Given the description of an element on the screen output the (x, y) to click on. 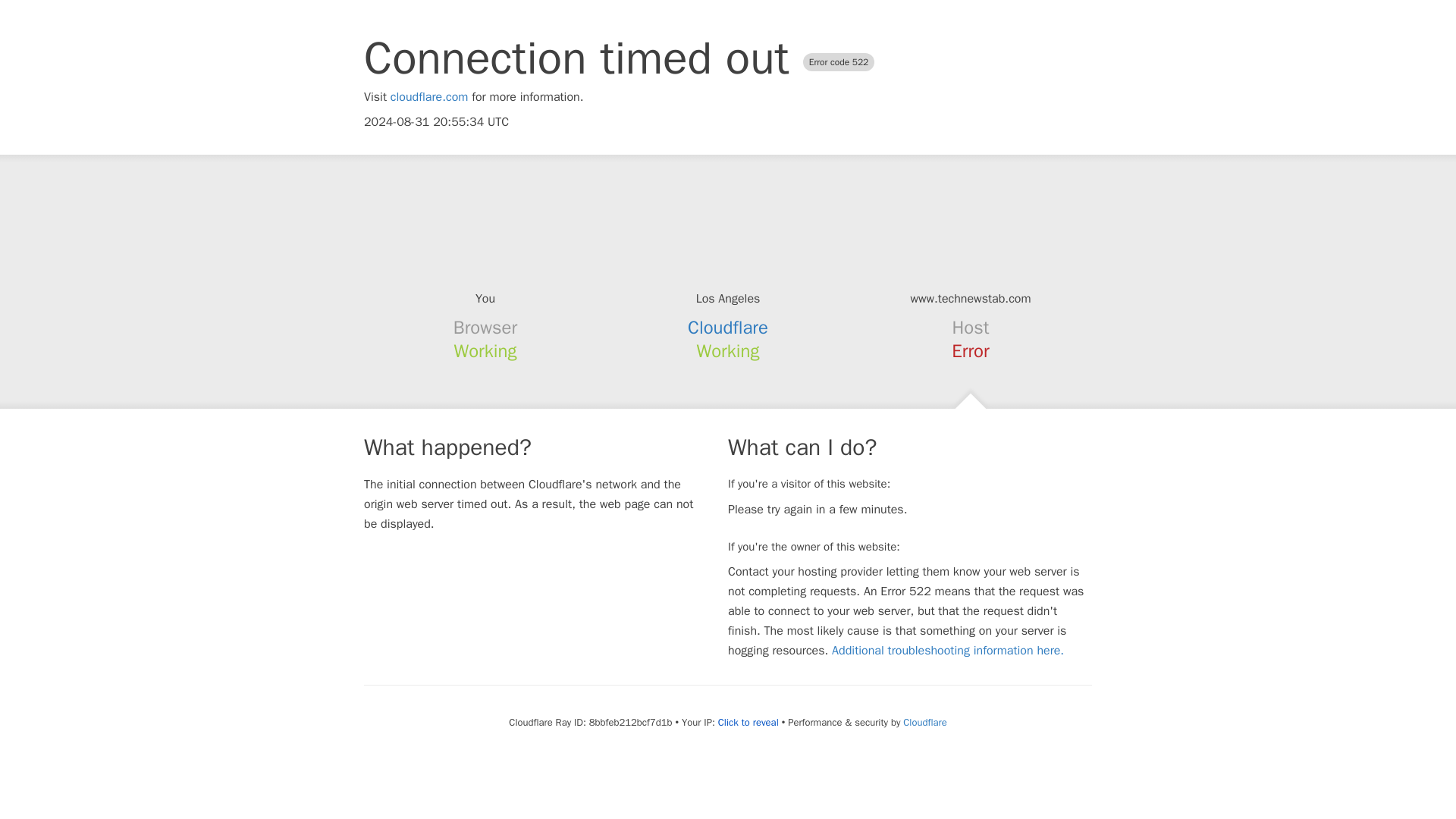
Click to reveal (747, 722)
Additional troubleshooting information here. (947, 650)
Cloudflare (924, 721)
Cloudflare (727, 327)
cloudflare.com (429, 96)
